Given the description of an element on the screen output the (x, y) to click on. 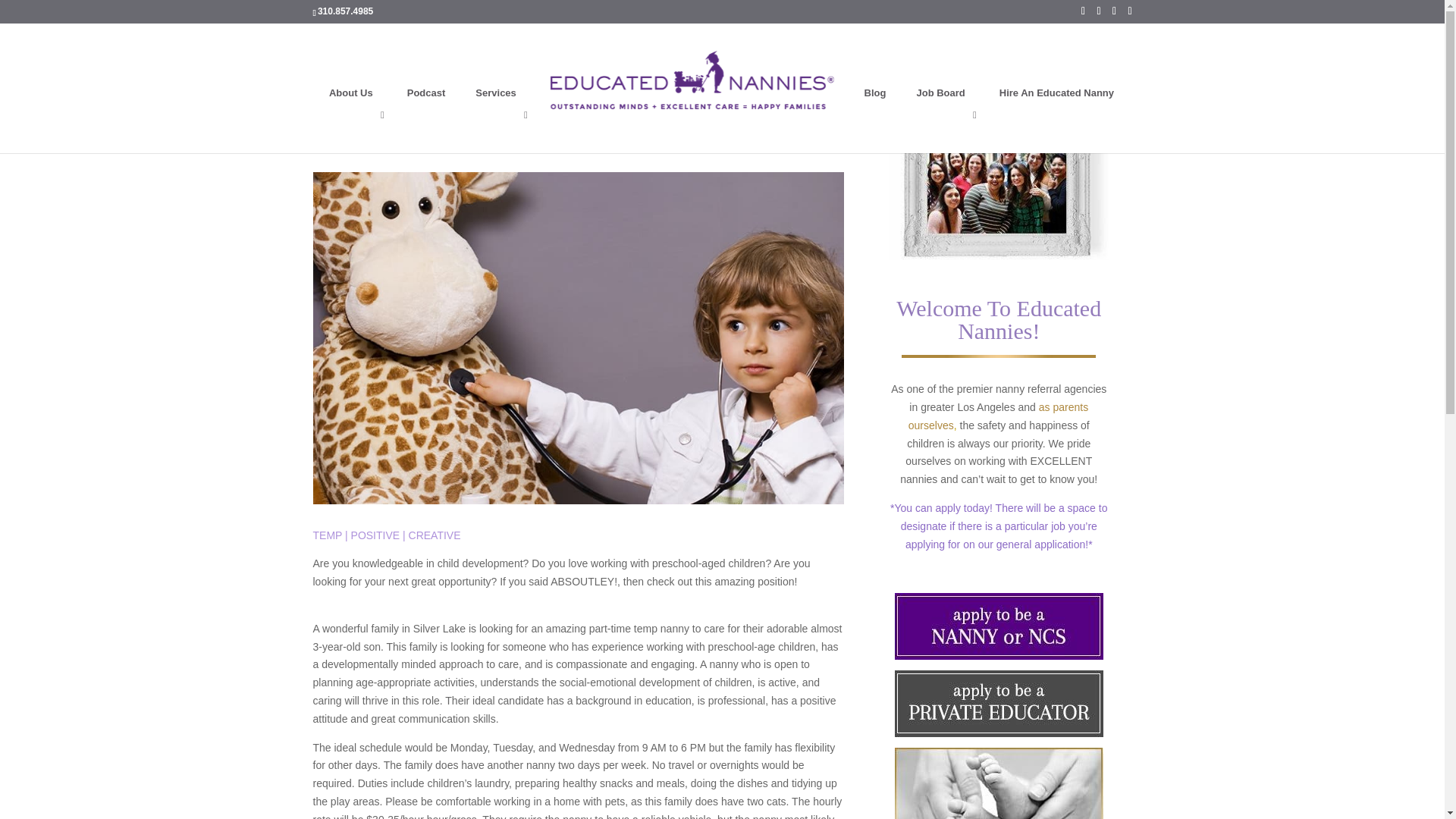
Hire An Educated Nanny (1056, 114)
About Us (352, 114)
Posts by Educated Nannies (369, 140)
Job Board (942, 114)
Podcast (426, 114)
Services (497, 114)
